Given the description of an element on the screen output the (x, y) to click on. 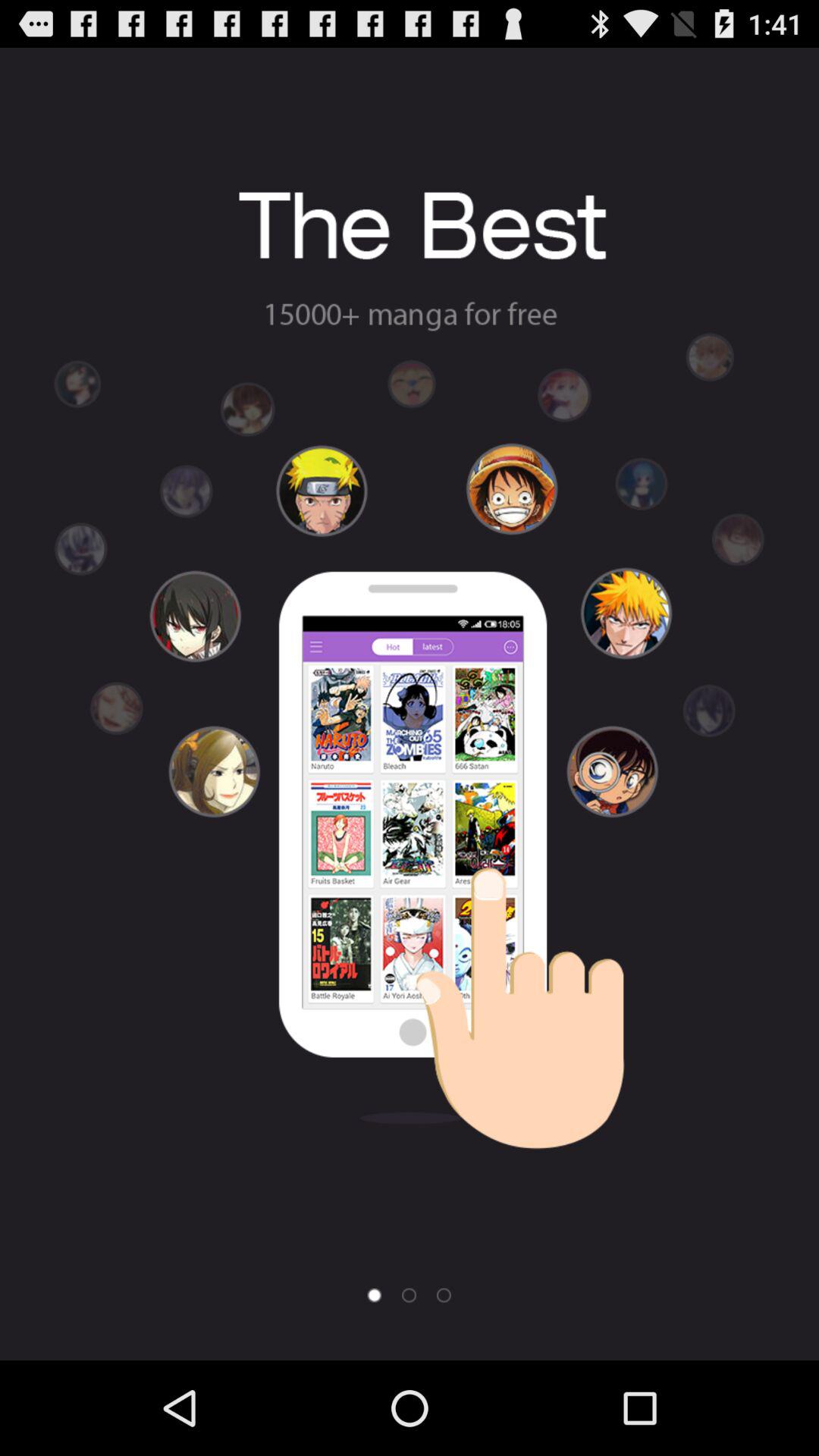
move to next screen (443, 1294)
